Given the description of an element on the screen output the (x, y) to click on. 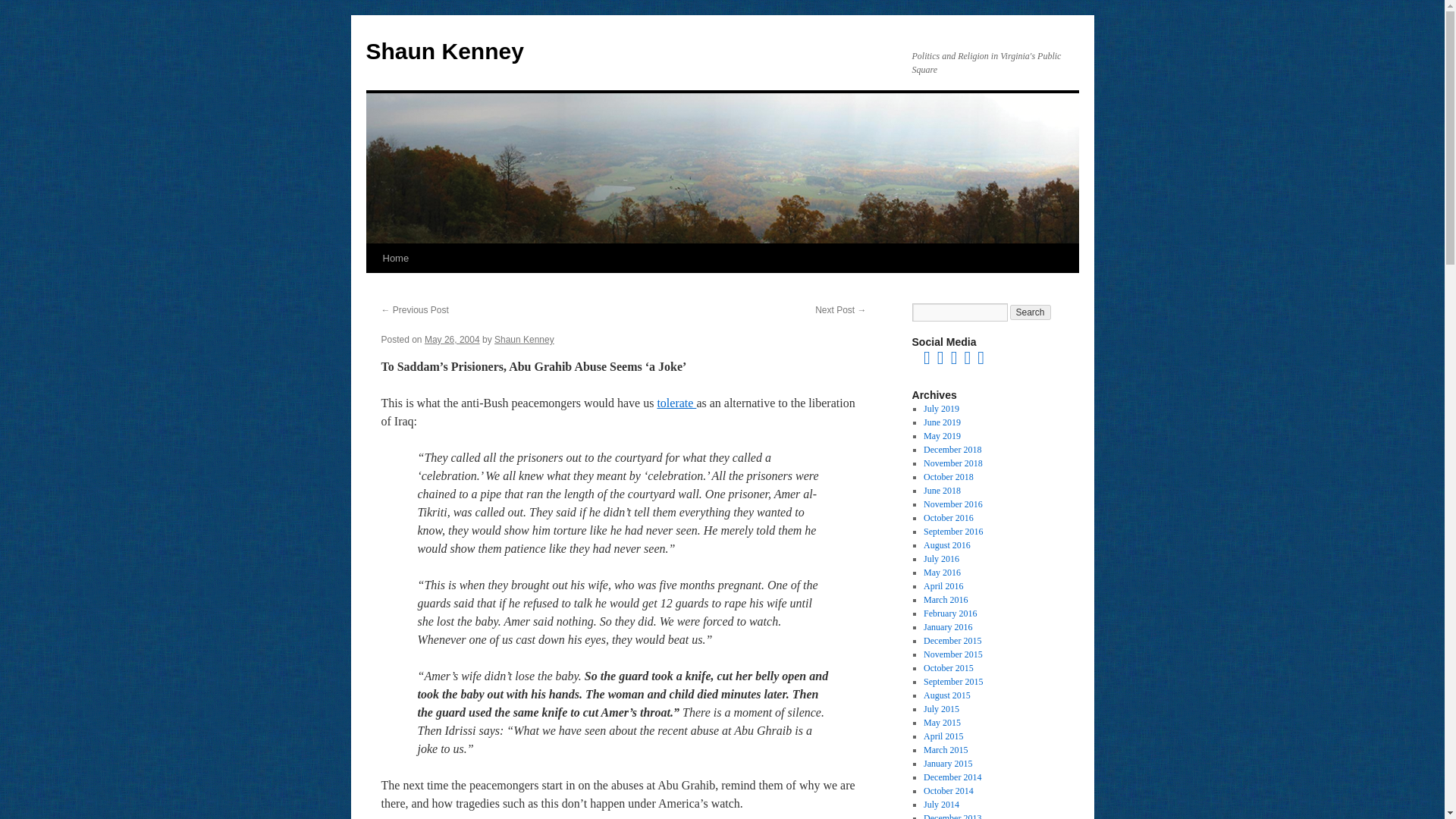
Search (1030, 312)
October 2018 (948, 476)
July 2019 (941, 408)
May 2019 (941, 435)
May 26, 2004 (452, 339)
View all posts by Shaun Kenney (524, 339)
tolerate (675, 402)
June 2019 (941, 421)
November 2018 (952, 462)
2:01 pm (452, 339)
